Given the description of an element on the screen output the (x, y) to click on. 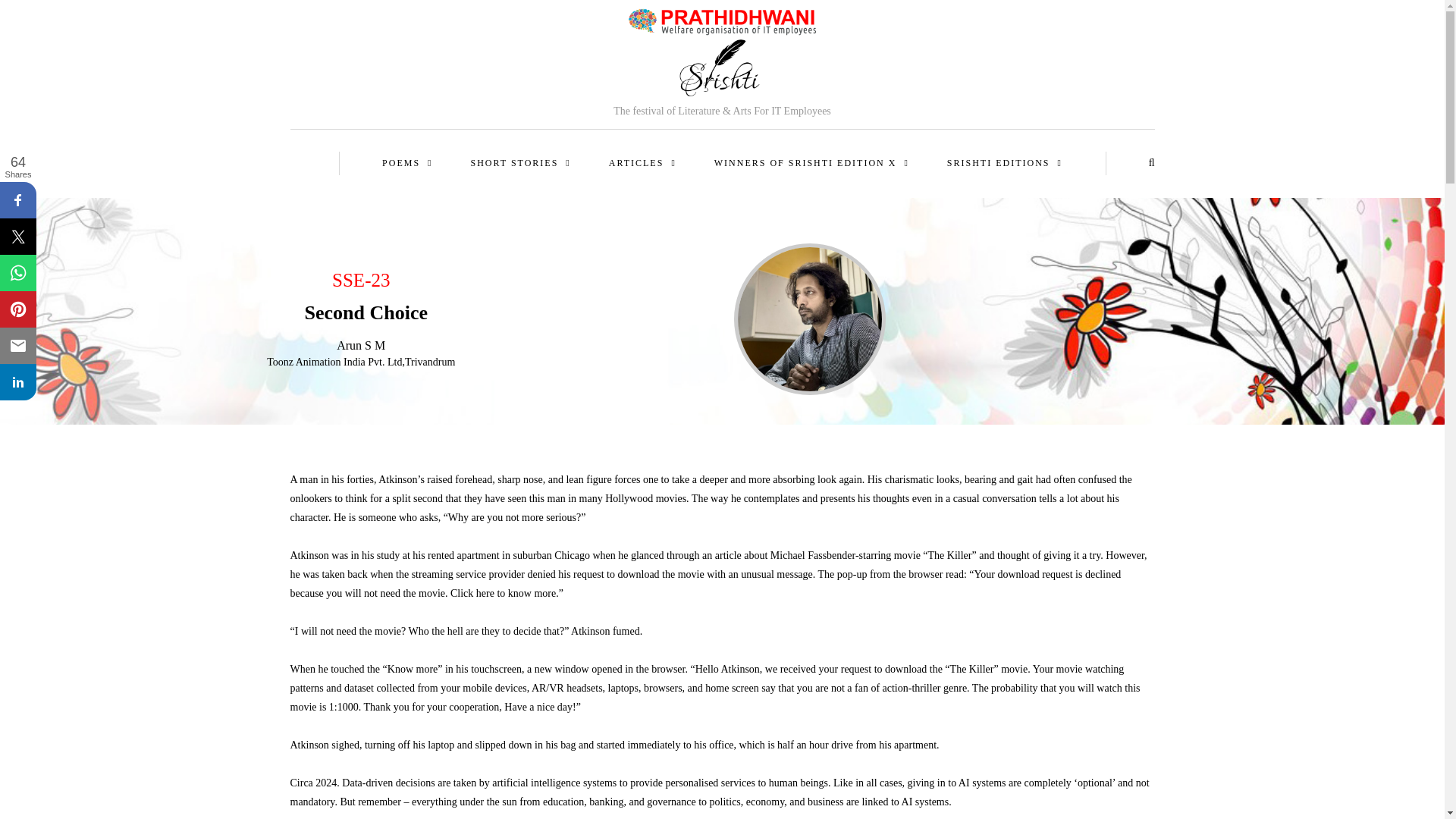
POEMS (406, 163)
ARTICLES (642, 163)
SRISHTI EDITIONS (1004, 163)
SHORT STORIES (521, 163)
WINNERS OF SRISHTI EDITION X (811, 163)
